Given the description of an element on the screen output the (x, y) to click on. 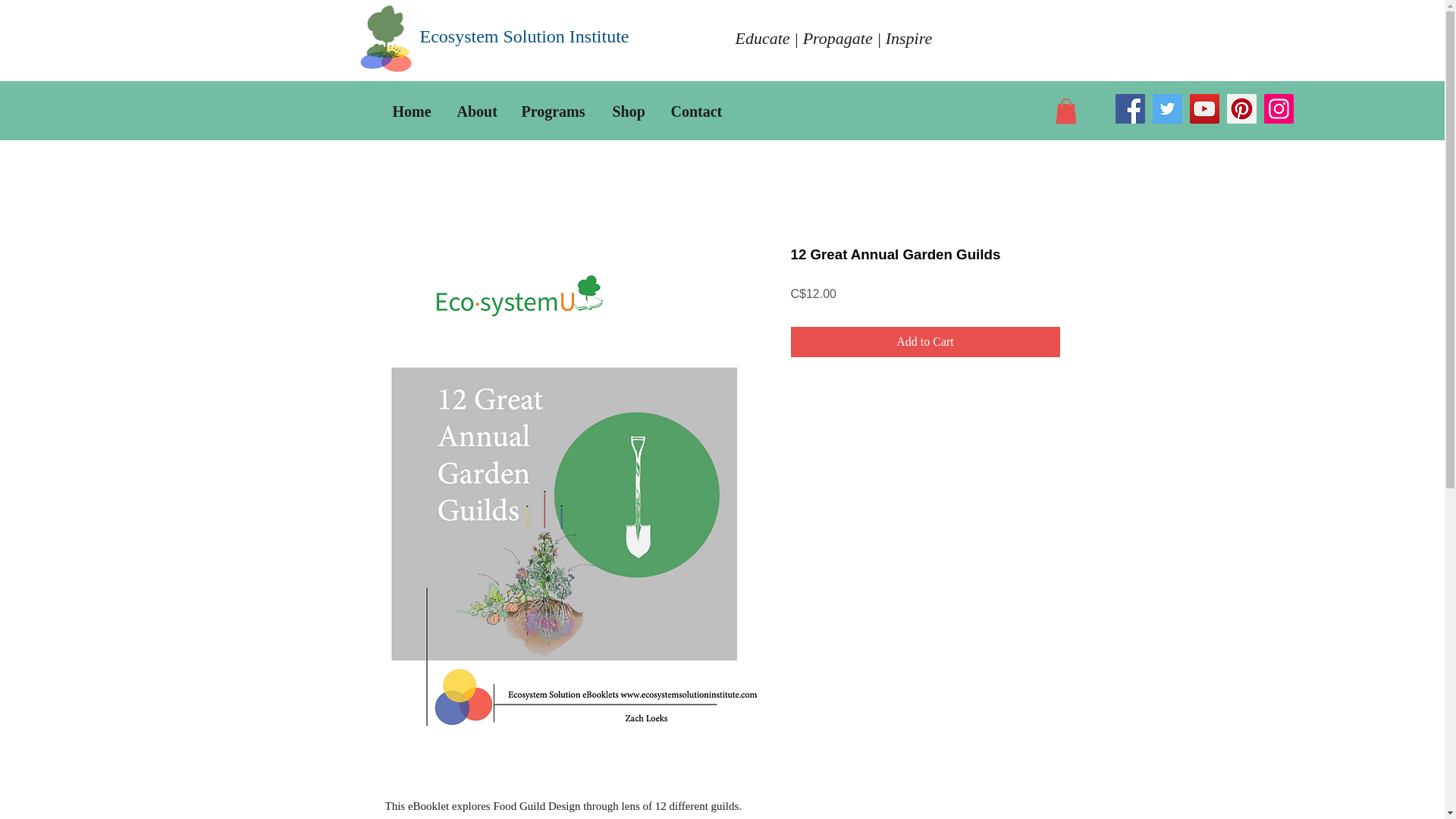
Add to Cart (924, 341)
Programs (554, 109)
Shop (629, 109)
Home (412, 109)
Contact (697, 109)
About (478, 109)
